Given the description of an element on the screen output the (x, y) to click on. 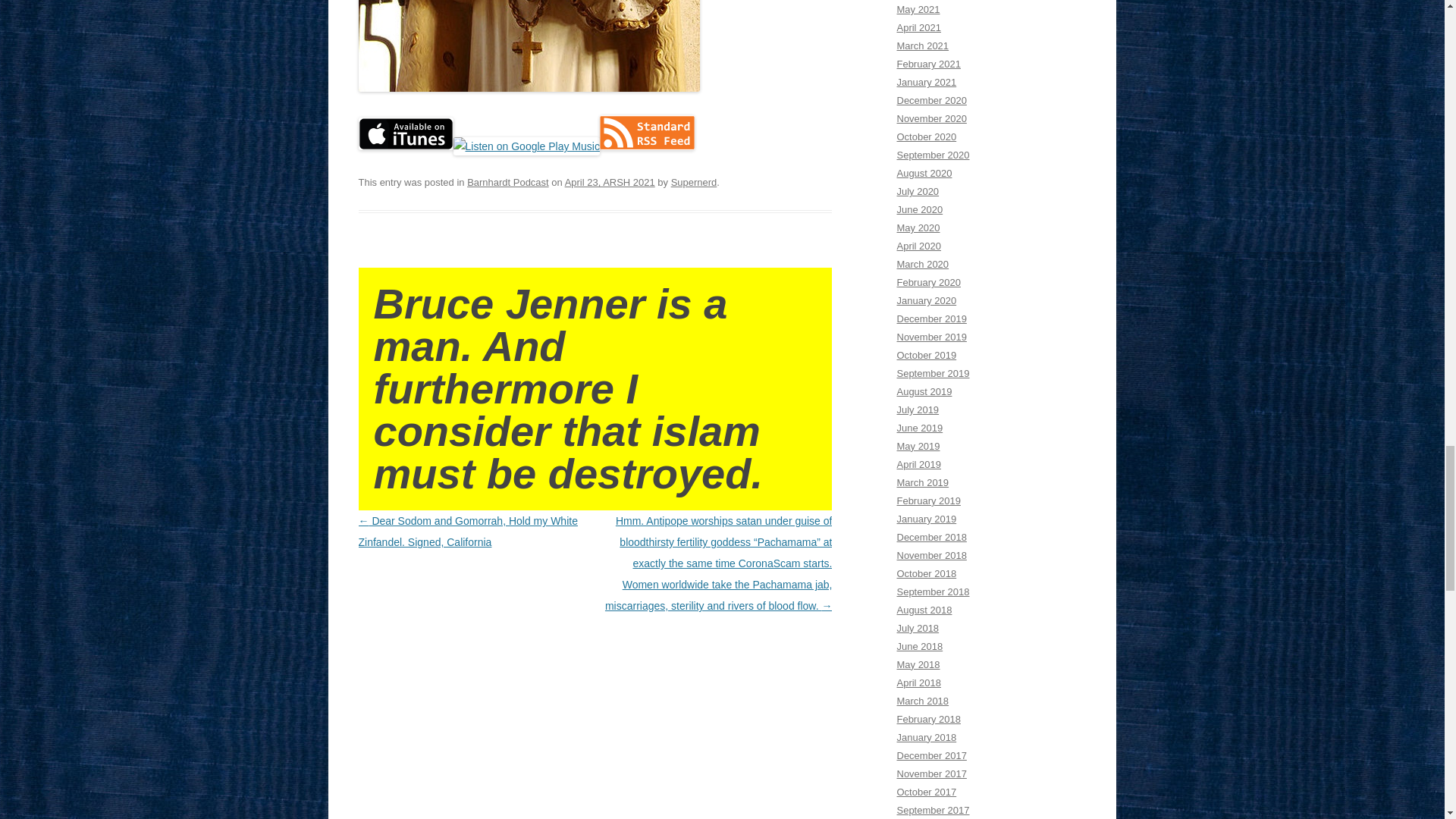
View all posts by Supernerd (694, 182)
10:04 am (609, 182)
April 23, ARSH 2021 (609, 182)
Barnhardt Podcast (507, 182)
